Given the description of an element on the screen output the (x, y) to click on. 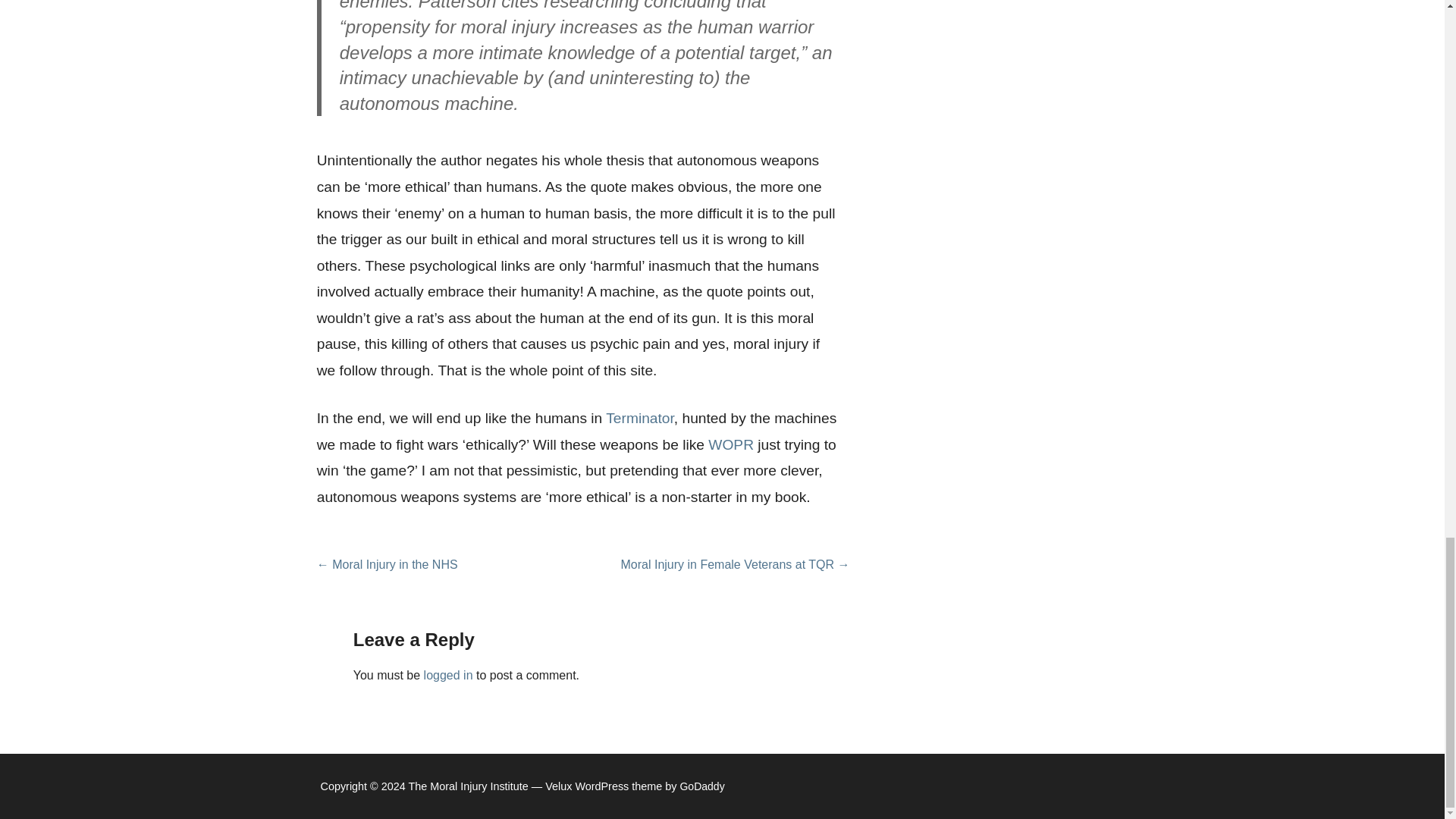
logged in (448, 675)
Terminator (639, 417)
WOPR (730, 444)
